Given the description of an element on the screen output the (x, y) to click on. 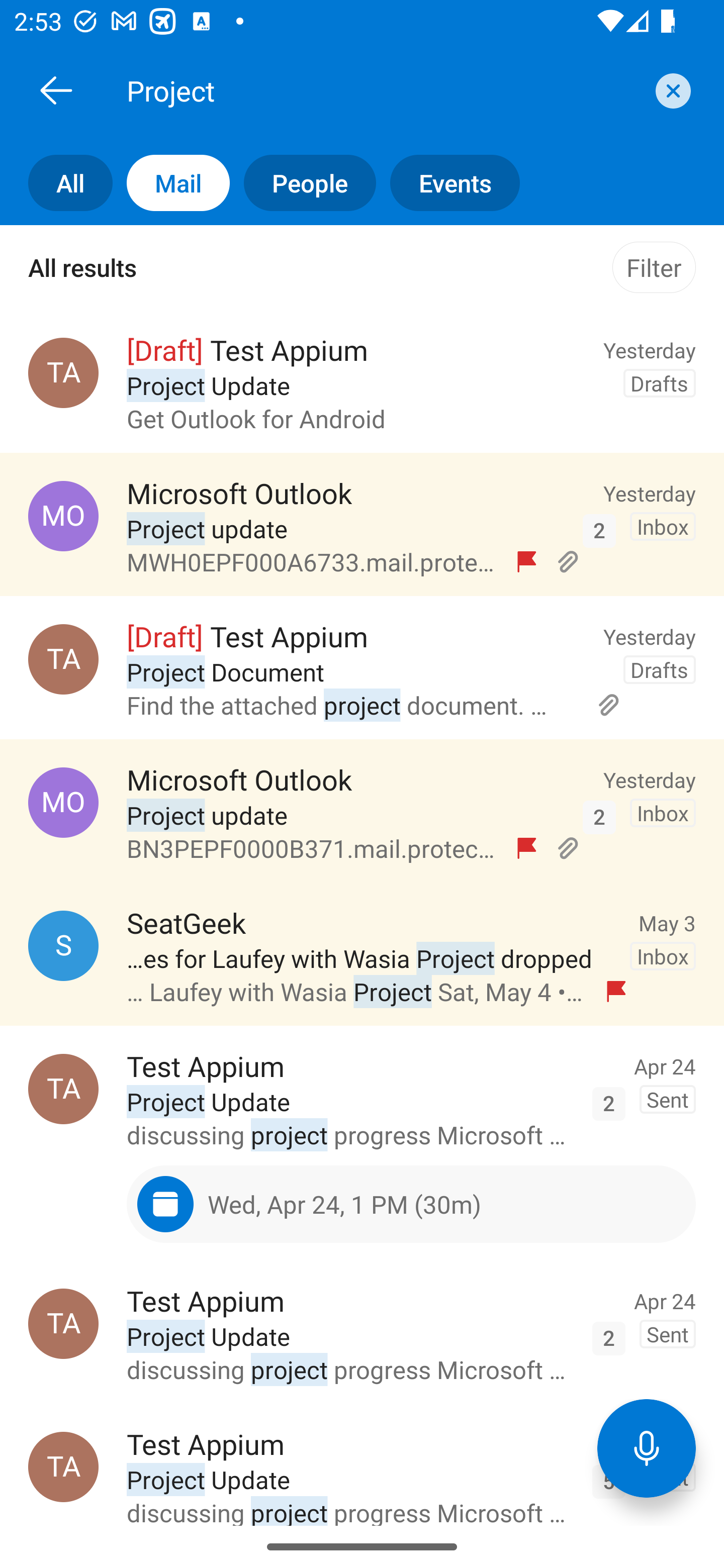
Back (55, 89)
Project (384, 89)
clear search (670, 90)
All (56, 183)
People (302, 183)
Events (447, 183)
Filter (653, 267)
Voice Assistant (646, 1447)
